Given the description of an element on the screen output the (x, y) to click on. 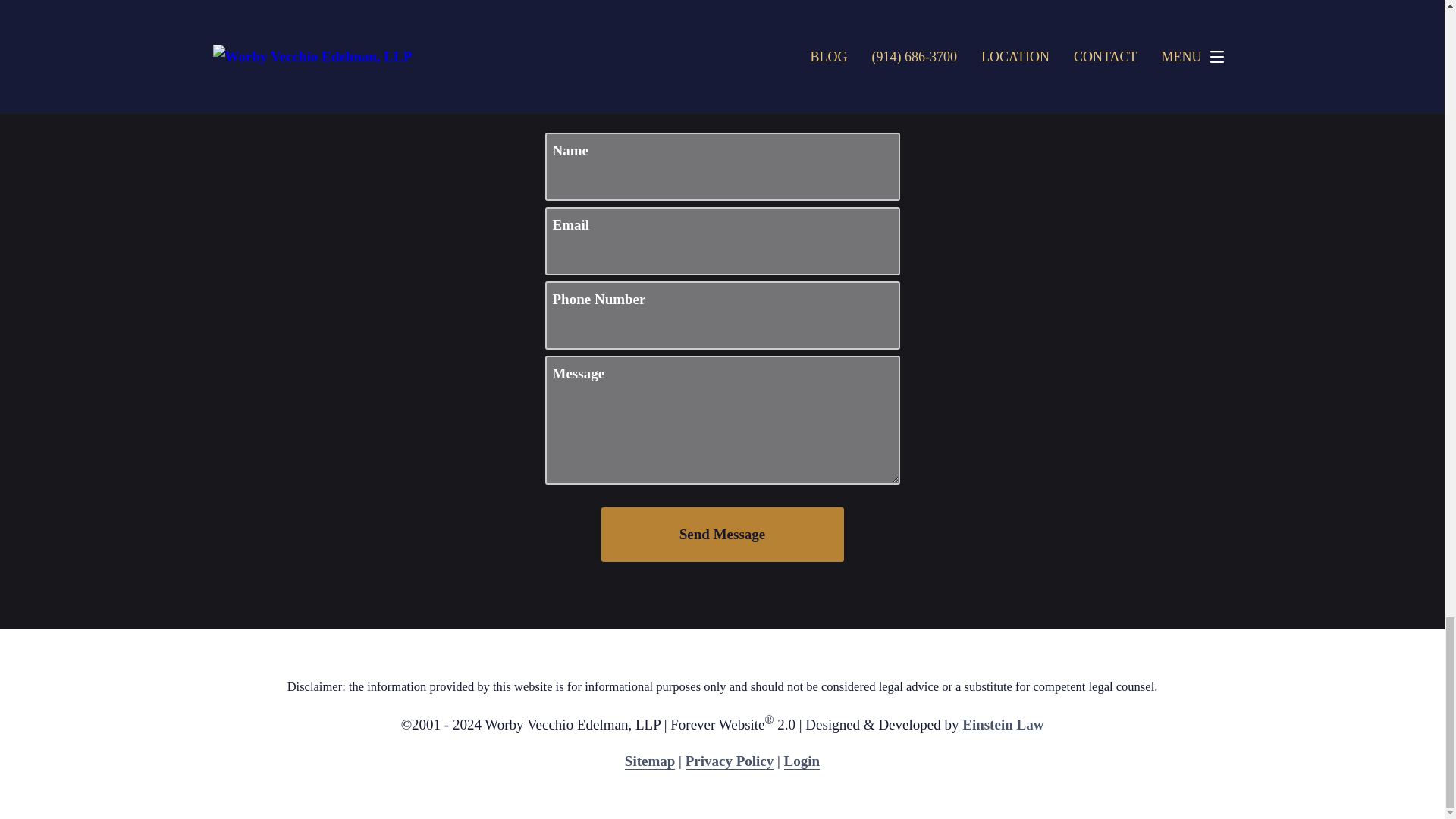
Privacy Policy (729, 760)
Einstein Law (1002, 724)
Send Message (721, 533)
Sitemap (649, 760)
Login (802, 760)
